Given the description of an element on the screen output the (x, y) to click on. 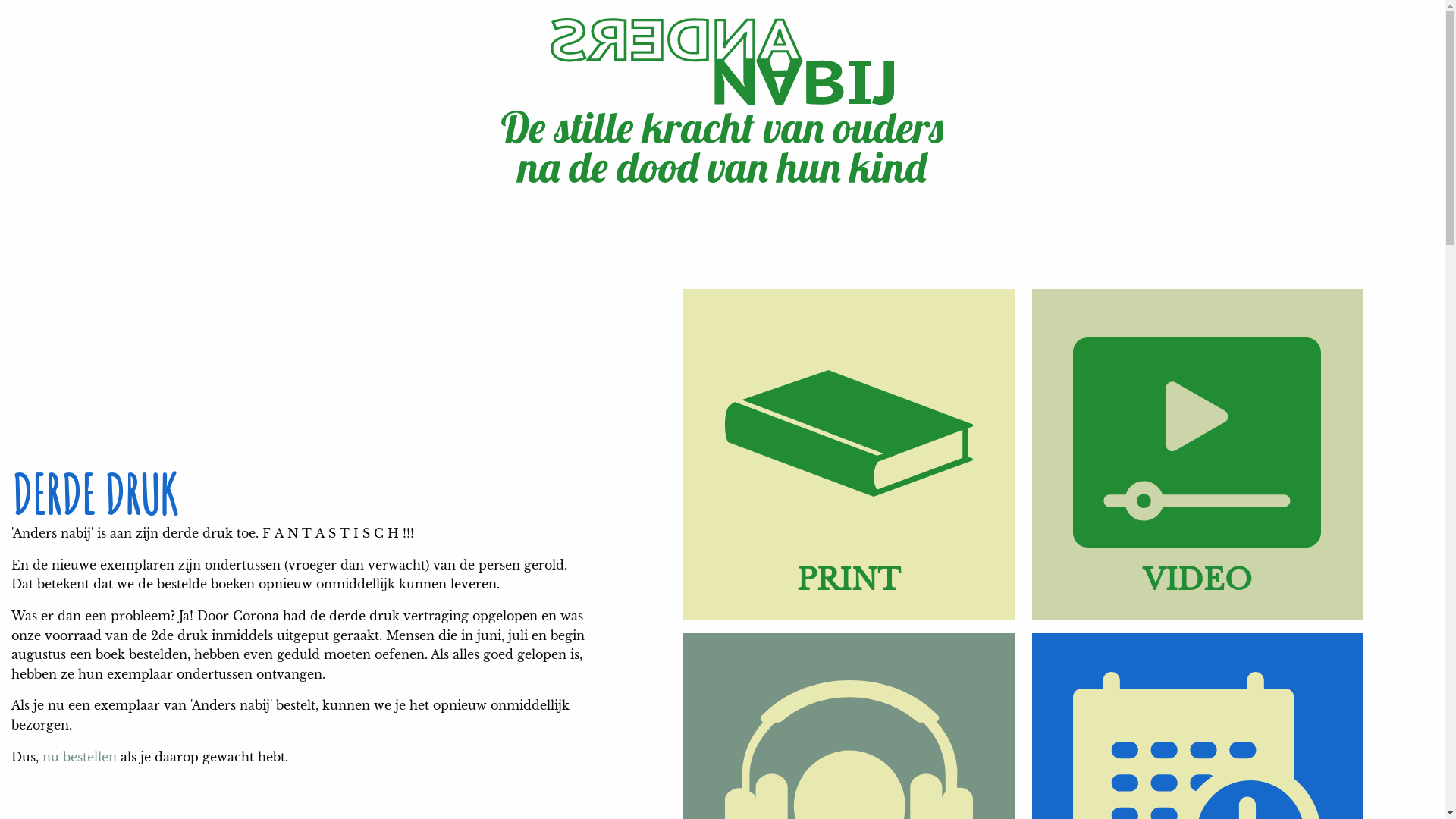
print Element type: text (848, 614)
nu bestellen Element type: text (79, 756)
video Element type: text (1197, 614)
